Given the description of an element on the screen output the (x, y) to click on. 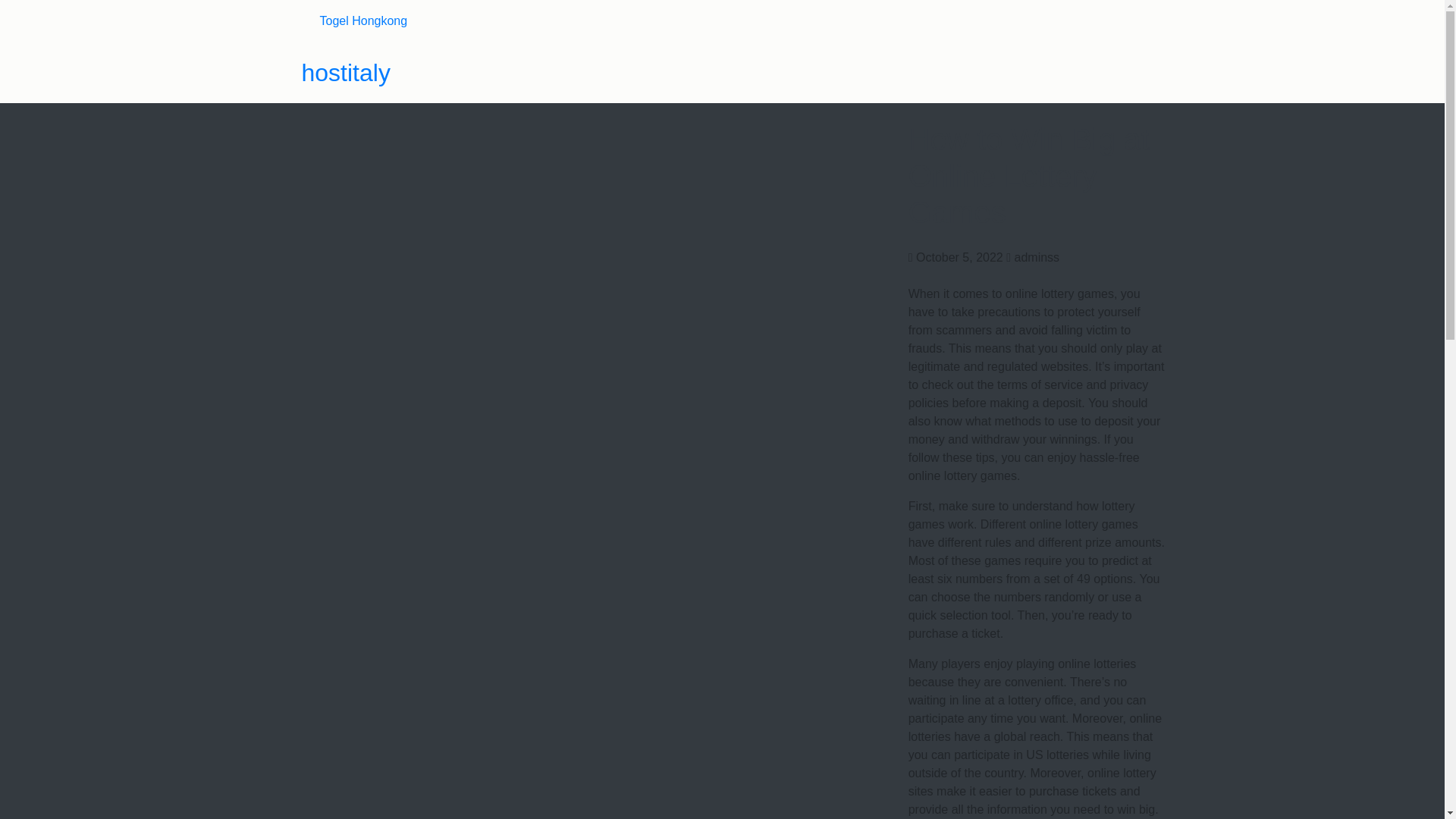
Togel Hongkong (363, 20)
Togel Hongkong (363, 20)
hostitaly (345, 72)
